Given the description of an element on the screen output the (x, y) to click on. 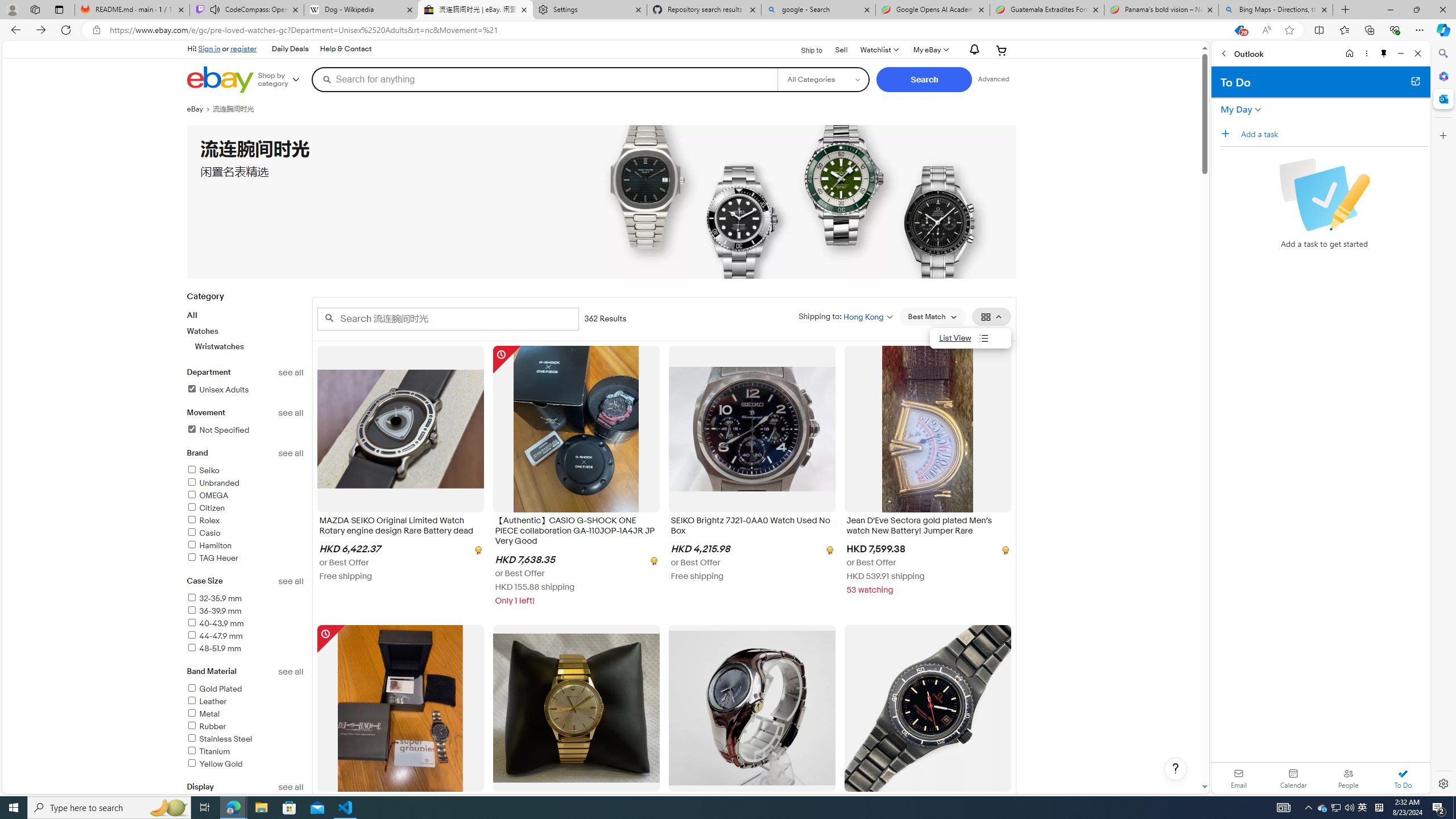
32-35.9 mm (213, 598)
Ship to (804, 49)
See all band material refinements (291, 671)
Yellow Gold (214, 764)
Shop by category (282, 79)
Citizen (205, 507)
Notifications (971, 49)
Add a task (1334, 133)
See all department refinements (291, 372)
Stainless Steel (245, 739)
